Given the description of an element on the screen output the (x, y) to click on. 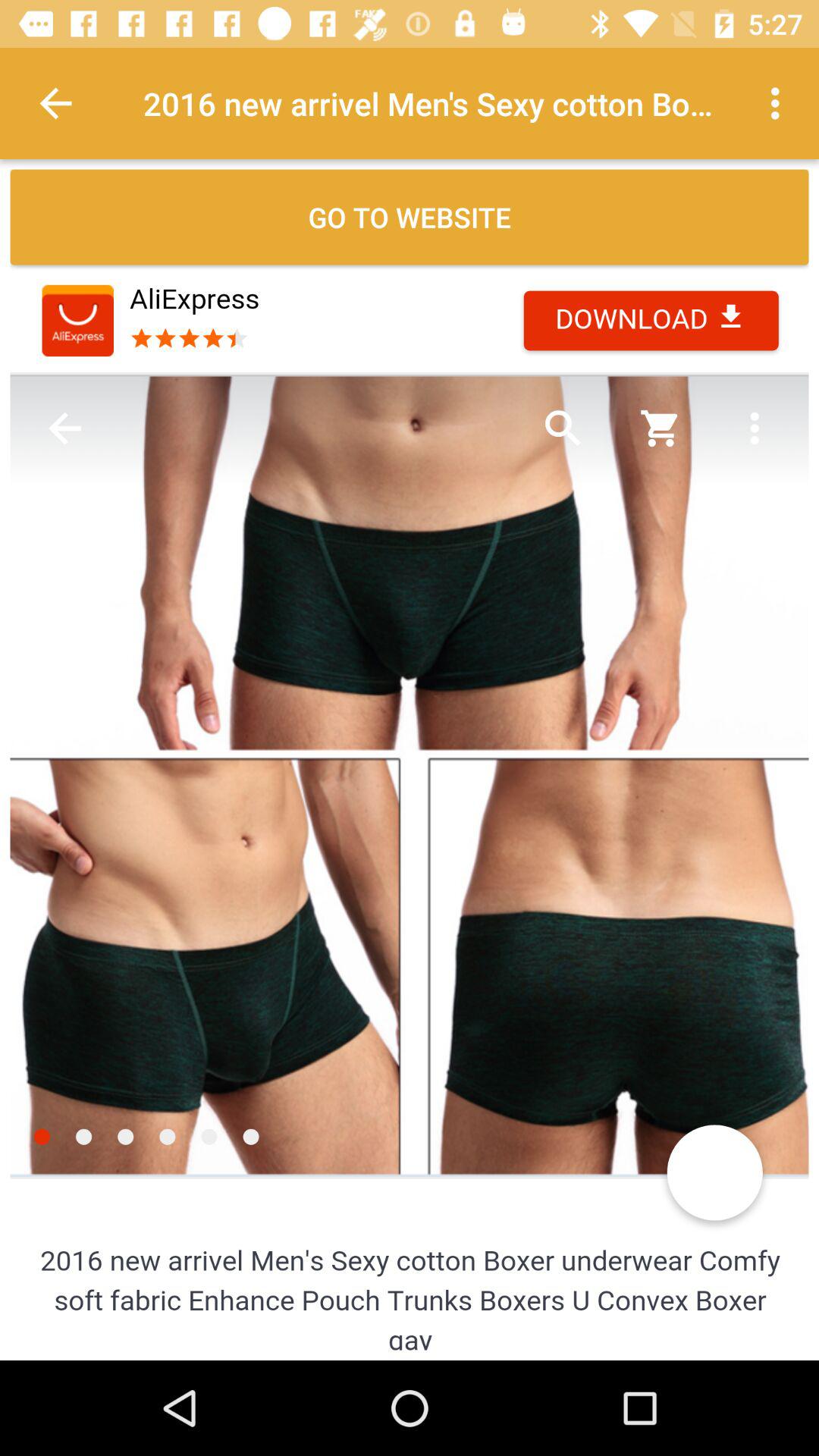
item image (409, 809)
